Given the description of an element on the screen output the (x, y) to click on. 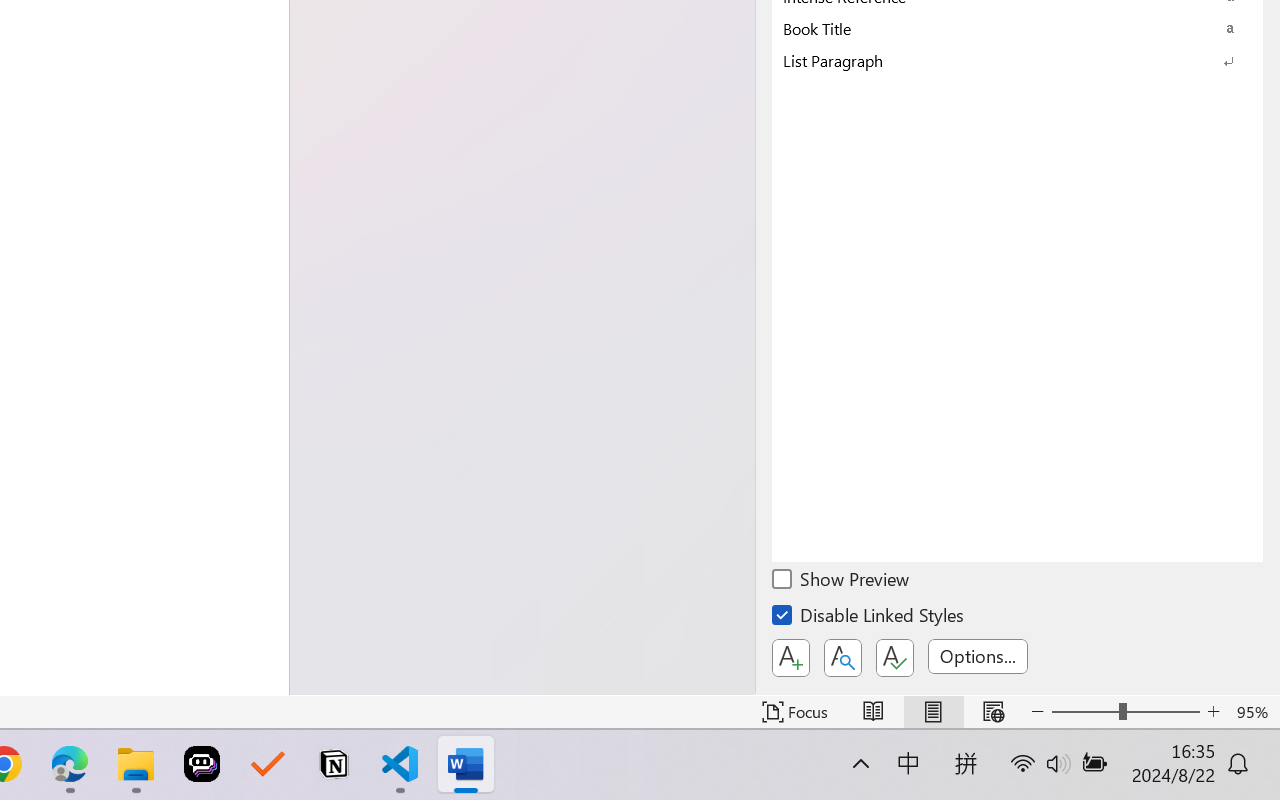
Book Title (1017, 28)
Class: NetUIButton (894, 657)
Options... (977, 656)
Disable Linked Styles (869, 618)
Show Preview (841, 582)
List Paragraph (1017, 60)
Zoom 95% (1253, 712)
